Given the description of an element on the screen output the (x, y) to click on. 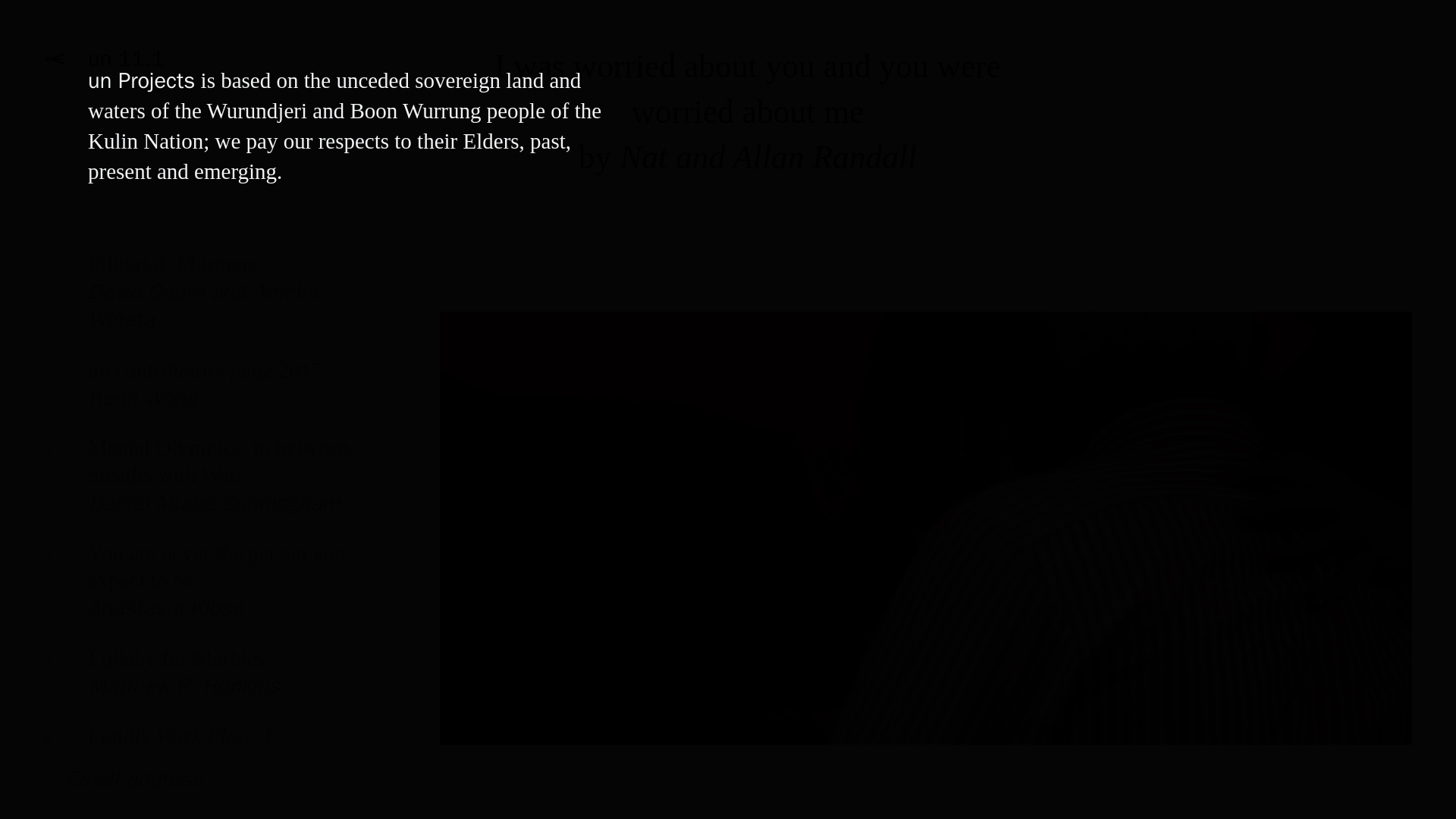
Nat and Allan Randall (197, 395)
Posts by Nat and Allan Randall (768, 156)
